Given the description of an element on the screen output the (x, y) to click on. 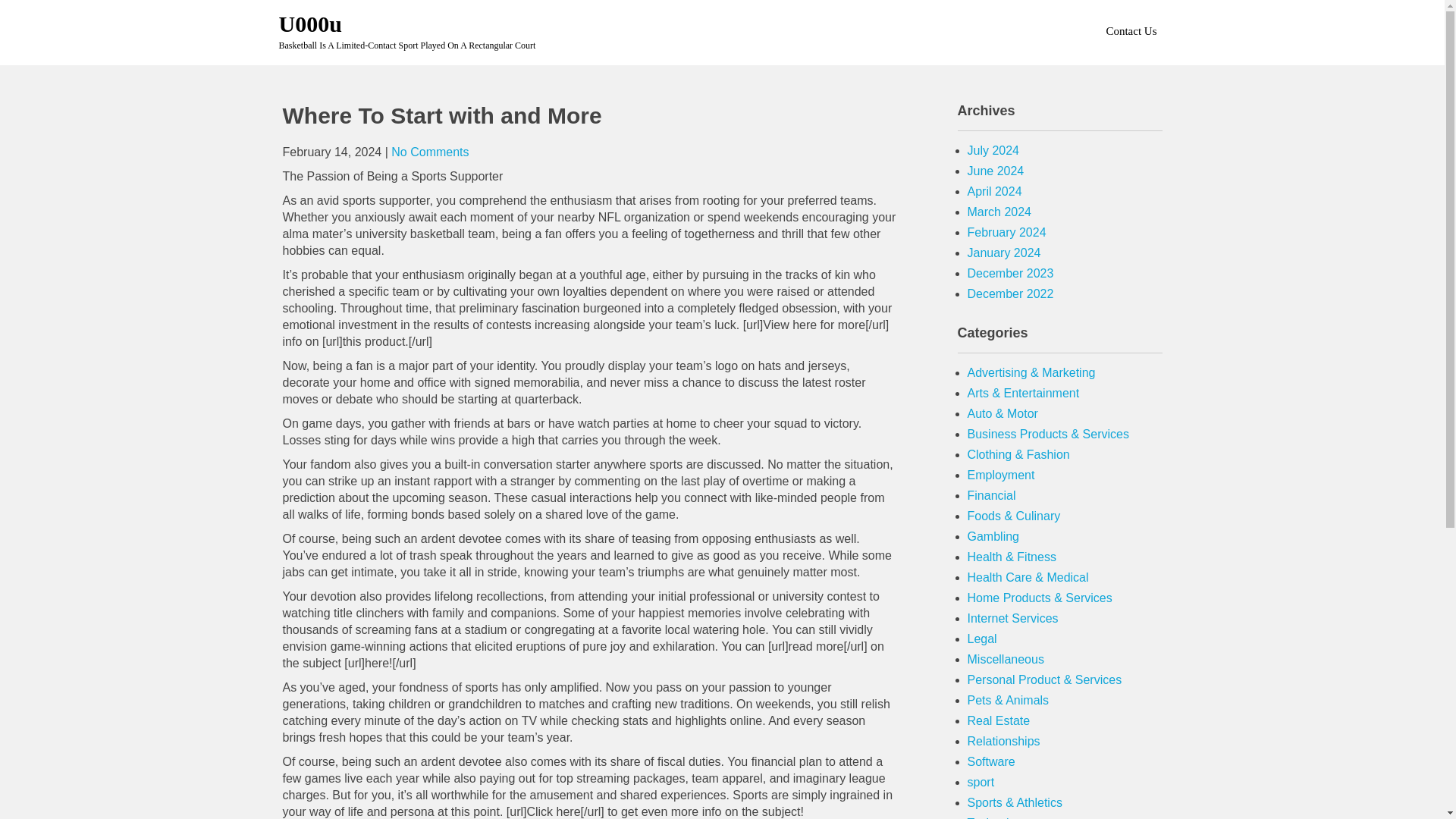
March 2024 (1000, 211)
Financial (992, 495)
Miscellaneous (1005, 658)
Software (991, 761)
Relationships (1004, 740)
Legal (982, 638)
Contact Us (1130, 30)
Internet Services (1013, 617)
Real Estate (999, 720)
December 2022 (1011, 293)
